Given the description of an element on the screen output the (x, y) to click on. 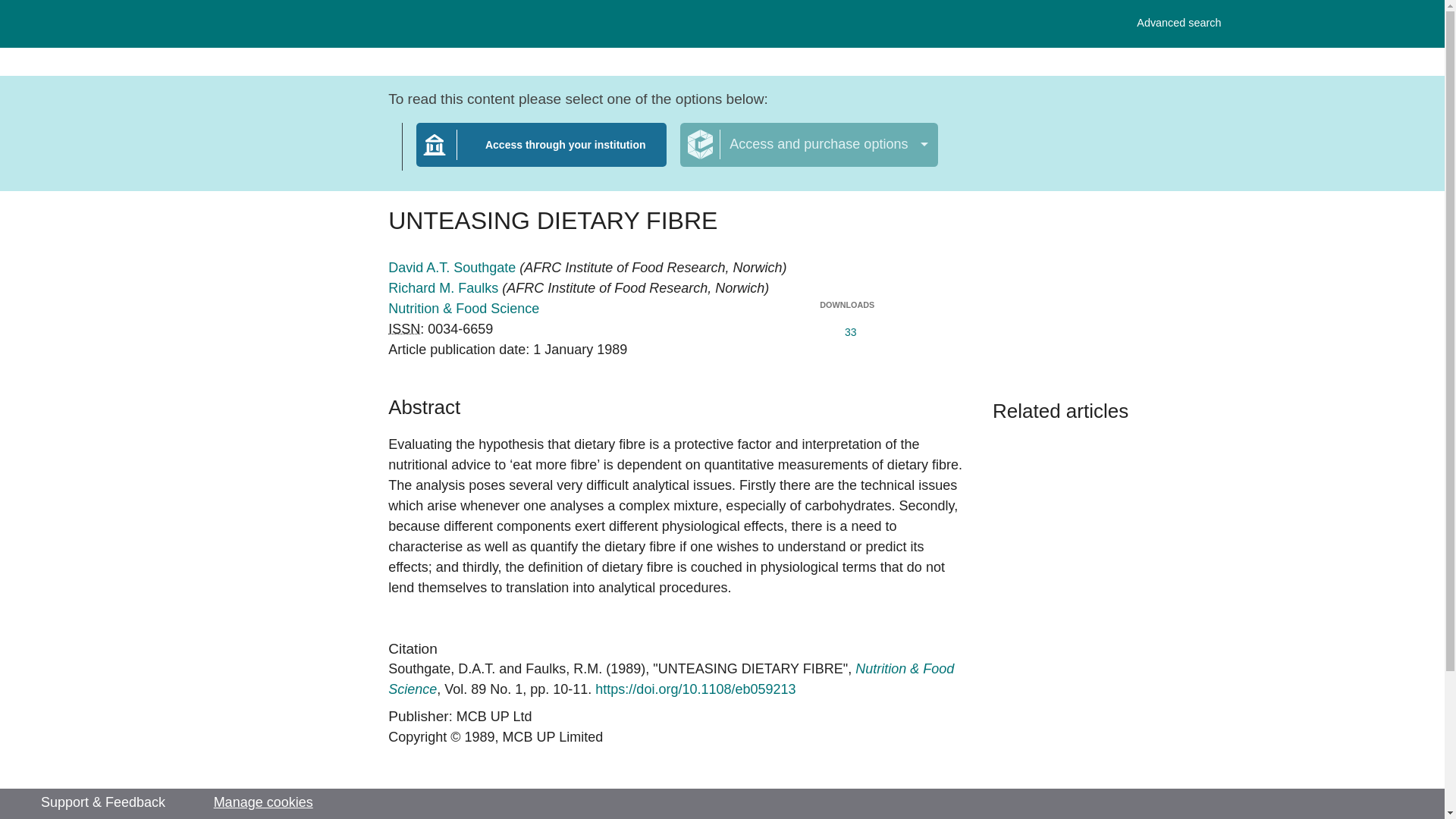
David A.T. Southgate (453, 267)
Manage cookies (263, 802)
International Standard Serial Number. (404, 328)
Access through your institution (541, 153)
David A.T. Southgate (441, 668)
Access and purchase options (1178, 23)
Faulks, R.M. (808, 144)
Southgate, D.A.T. (563, 668)
Richard M. Faulks (441, 668)
